Given the description of an element on the screen output the (x, y) to click on. 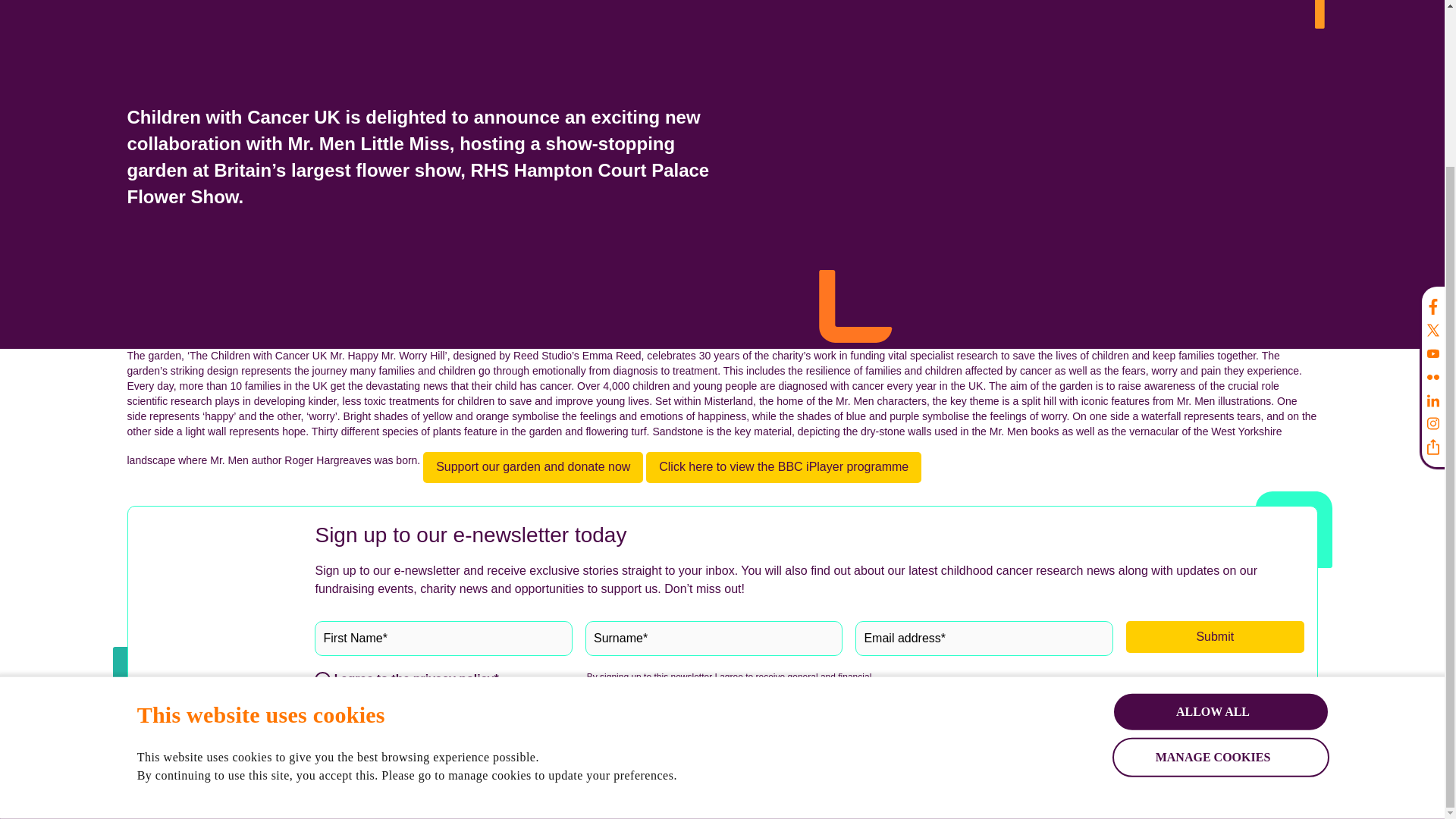
on (322, 679)
Submit (1214, 636)
